Given the description of an element on the screen output the (x, y) to click on. 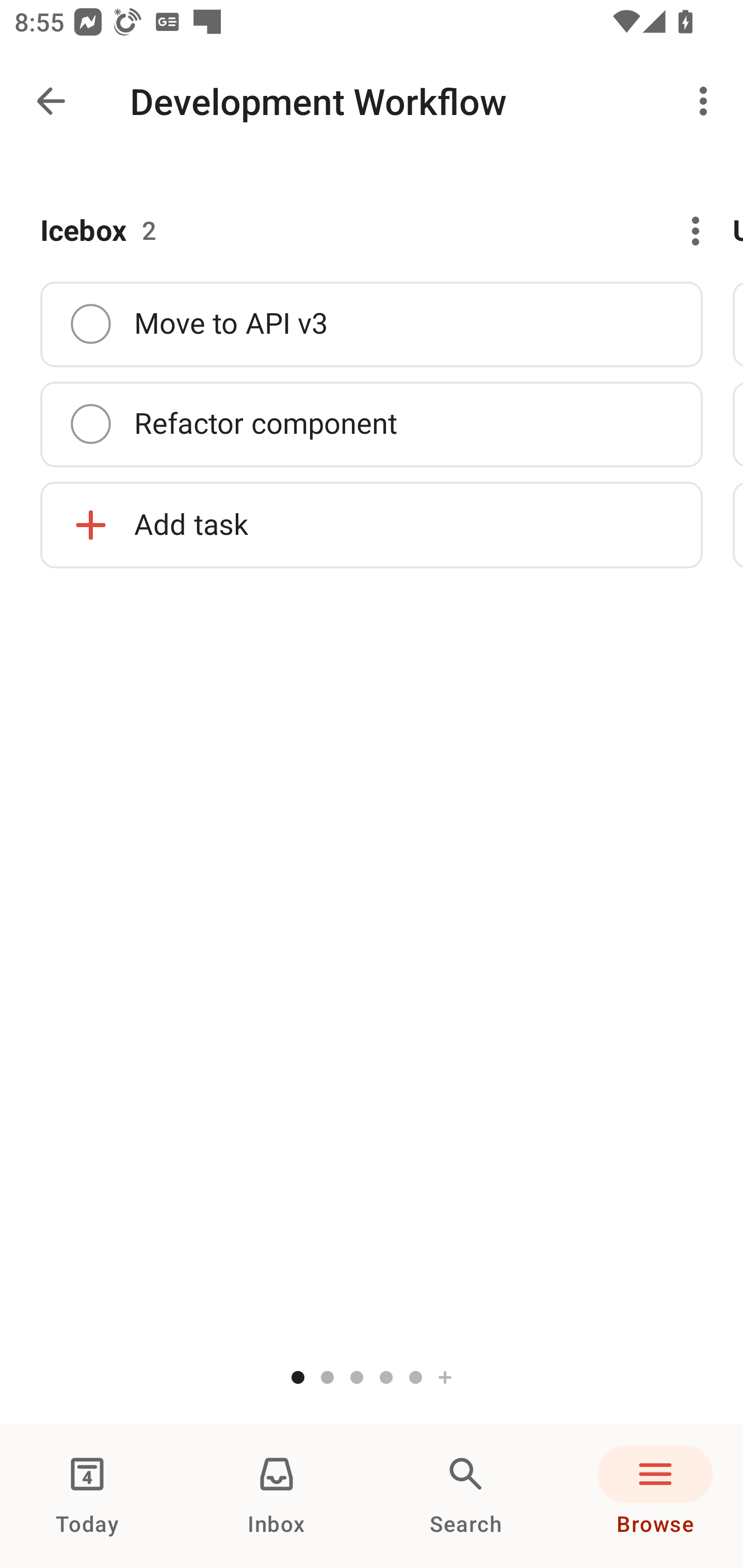
Navigate up Development Workflow More options (371, 100)
Navigate up (50, 101)
More options (706, 101)
Icebox (83, 231)
More options (685, 231)
Complete Move to API v3 (371, 324)
Complete (90, 323)
Complete Refactor component (371, 424)
Complete (90, 424)
Add Add task (371, 524)
Today (87, 1495)
Inbox (276, 1495)
Search (465, 1495)
